Given the description of an element on the screen output the (x, y) to click on. 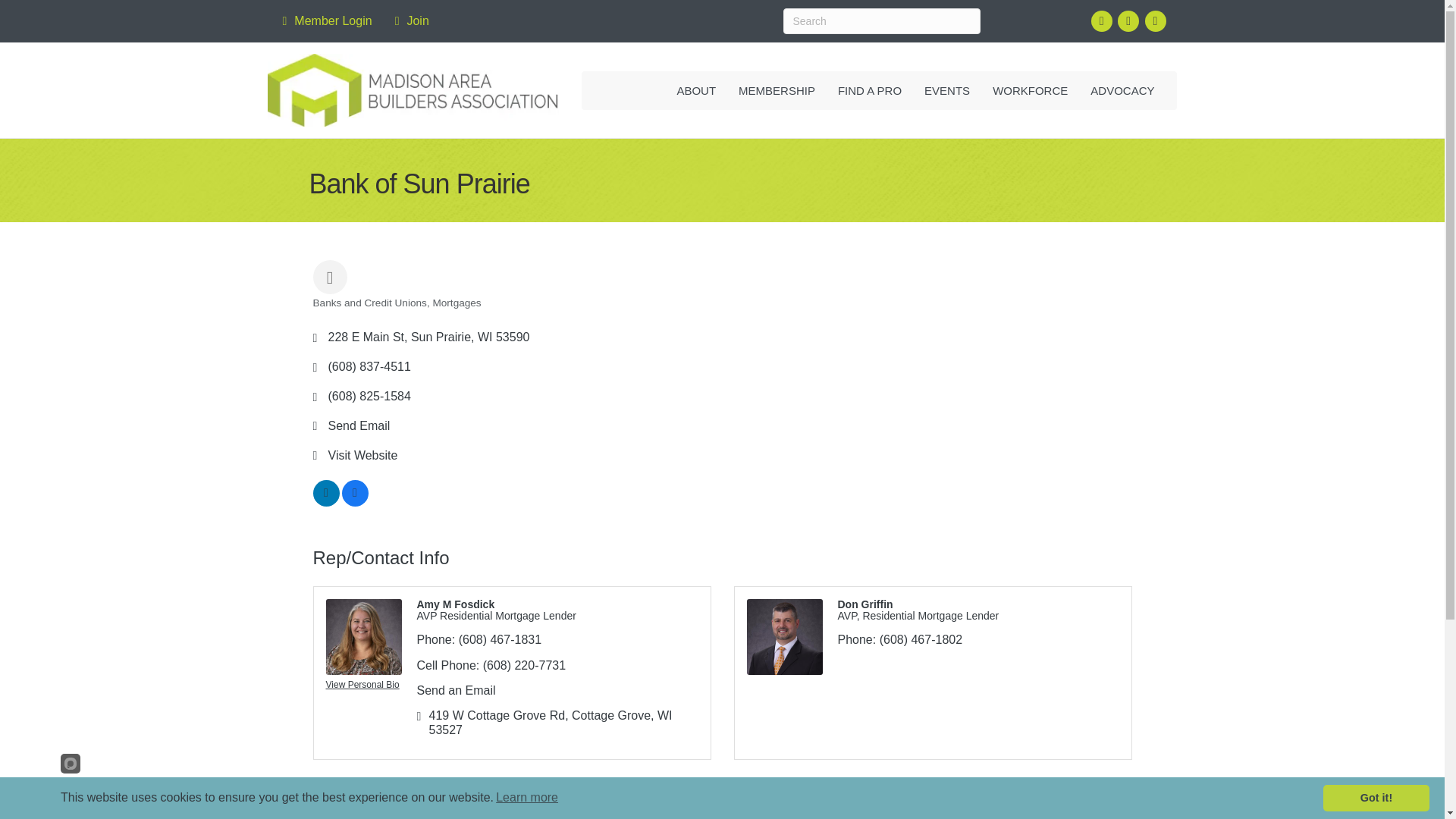
View on Facebook (354, 502)
View on LinkedIn (326, 502)
Type and press Enter to search. (881, 21)
